Given the description of an element on the screen output the (x, y) to click on. 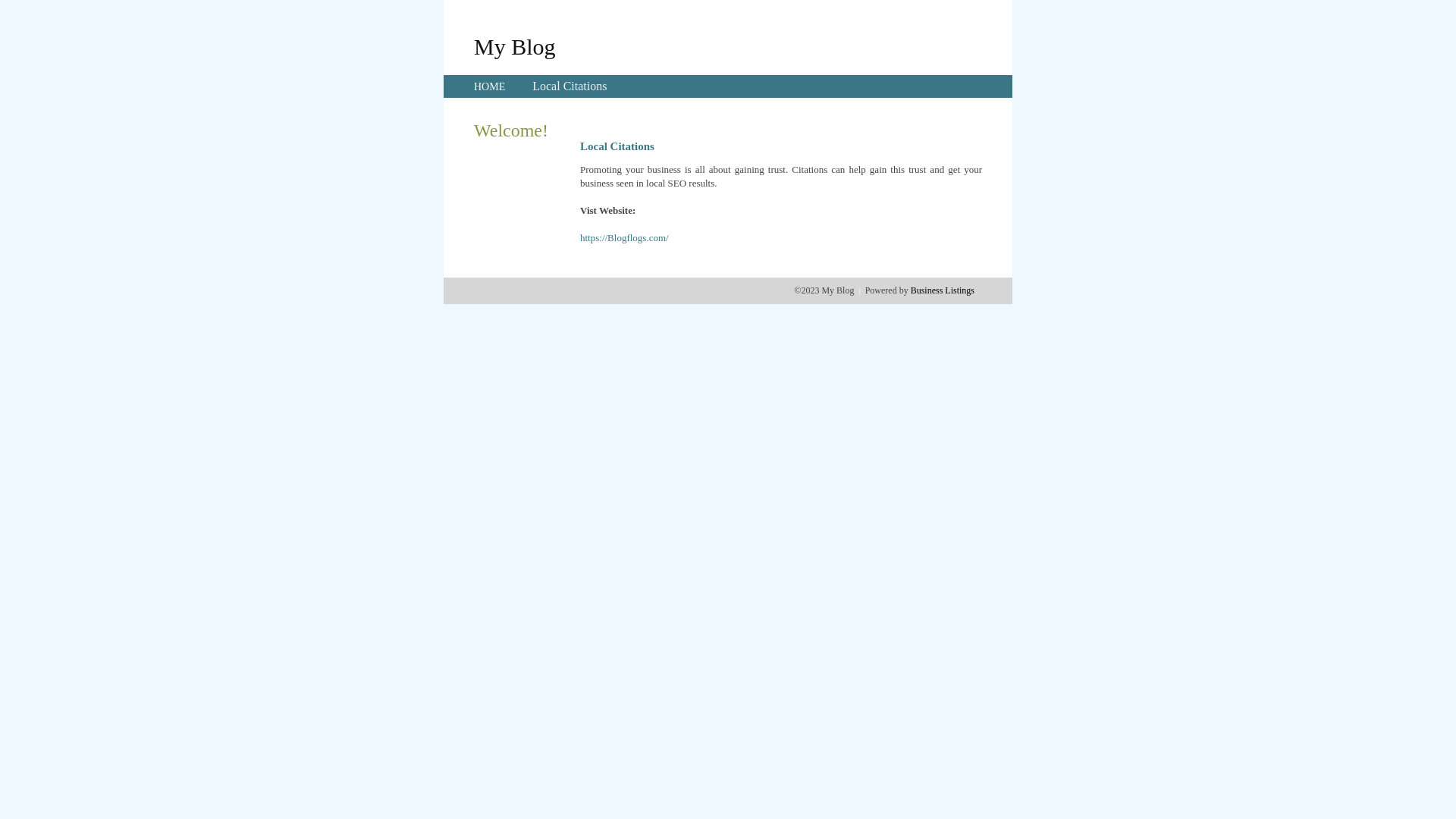
https://Blogflogs.com/ Element type: text (624, 237)
Business Listings Element type: text (942, 290)
Local Citations Element type: text (569, 85)
My Blog Element type: text (514, 46)
HOME Element type: text (489, 86)
